Given the description of an element on the screen output the (x, y) to click on. 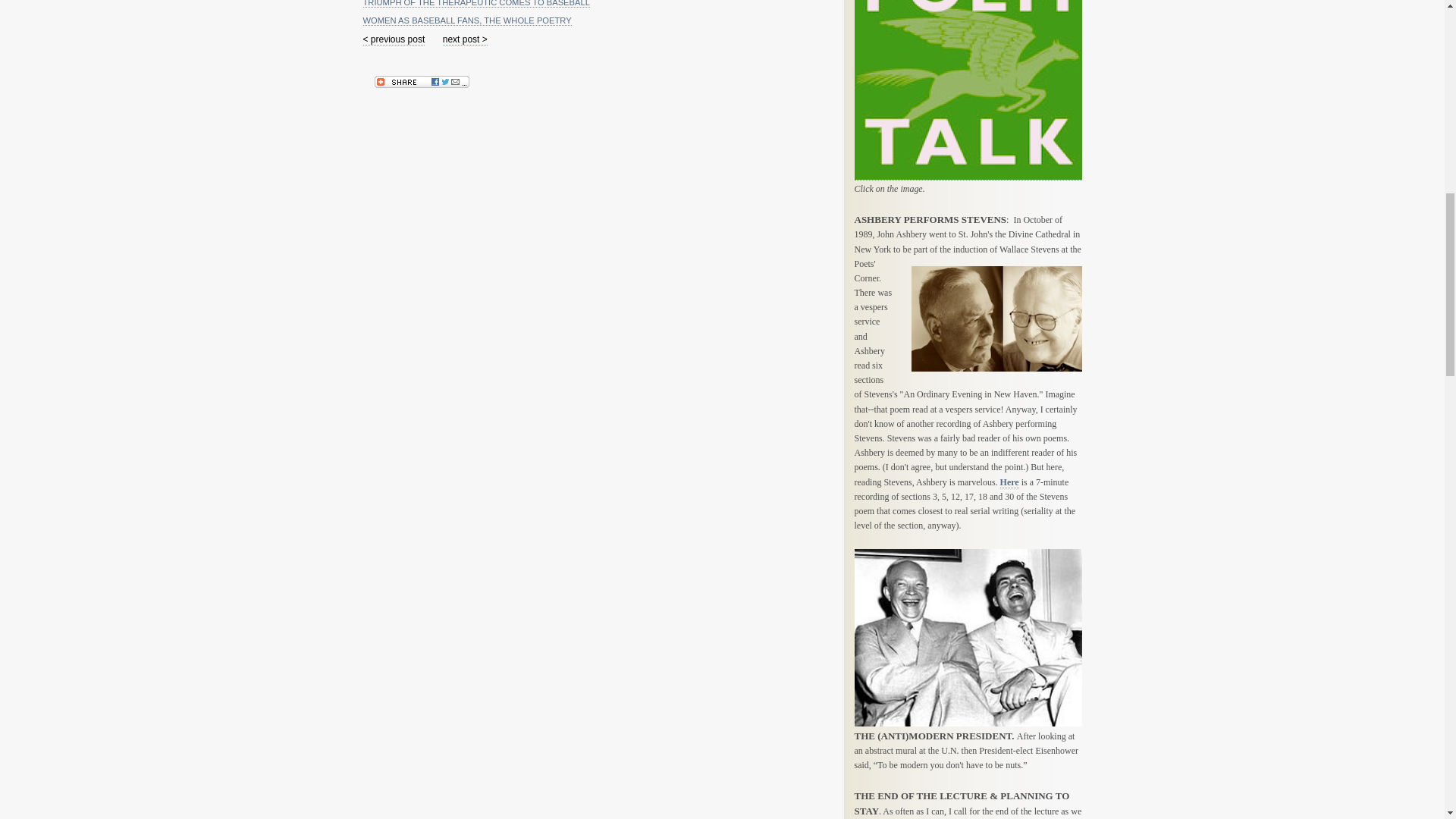
Here (1009, 482)
WOMEN AS BASEBALL FANS, THE WHOLE POETRY (466, 20)
TRIUMPH OF THE THERAPEUTIC COMES TO BASEBALL (475, 3)
